Given the description of an element on the screen output the (x, y) to click on. 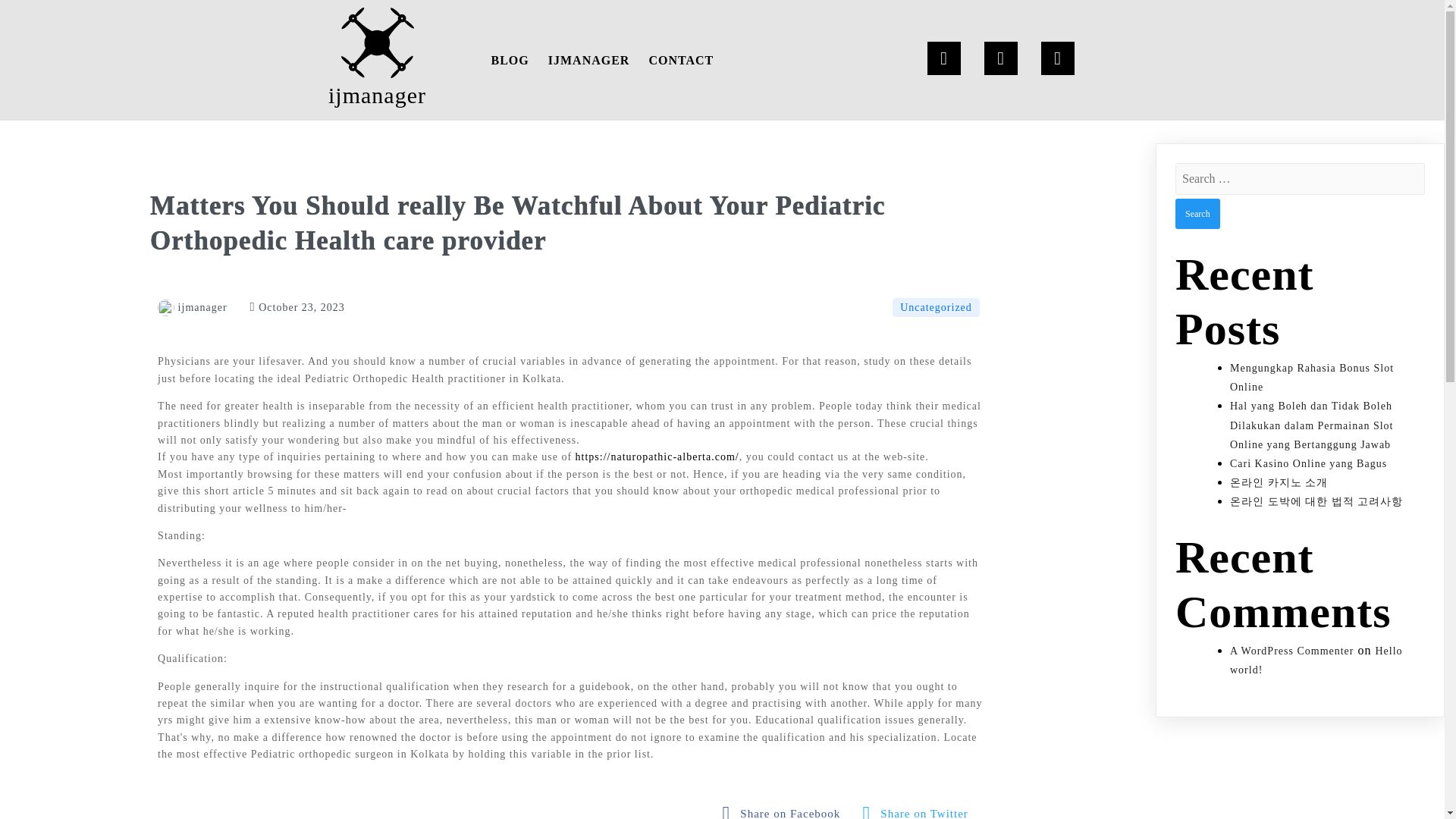
October 23, 2023 (297, 307)
Search (1197, 214)
ijmanager (377, 60)
fab fa-twitter-square (920, 809)
CONTACT (680, 59)
Hello world! (1316, 659)
Share on Facebook (786, 809)
IJMANAGER (588, 59)
Cari Kasino Online yang Bagus (1308, 463)
